Given the description of an element on the screen output the (x, y) to click on. 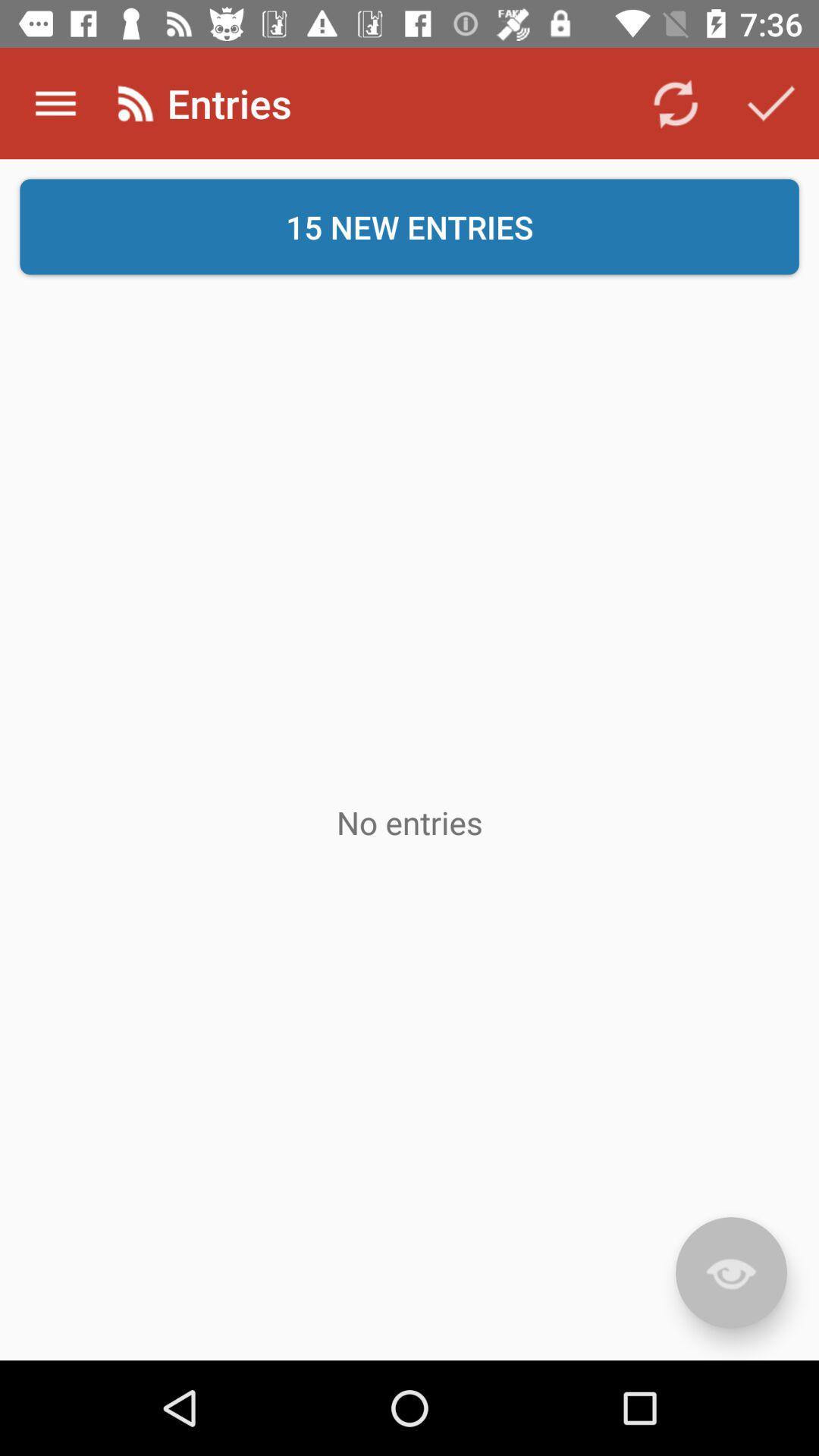
press item at the bottom right corner (731, 1272)
